Given the description of an element on the screen output the (x, y) to click on. 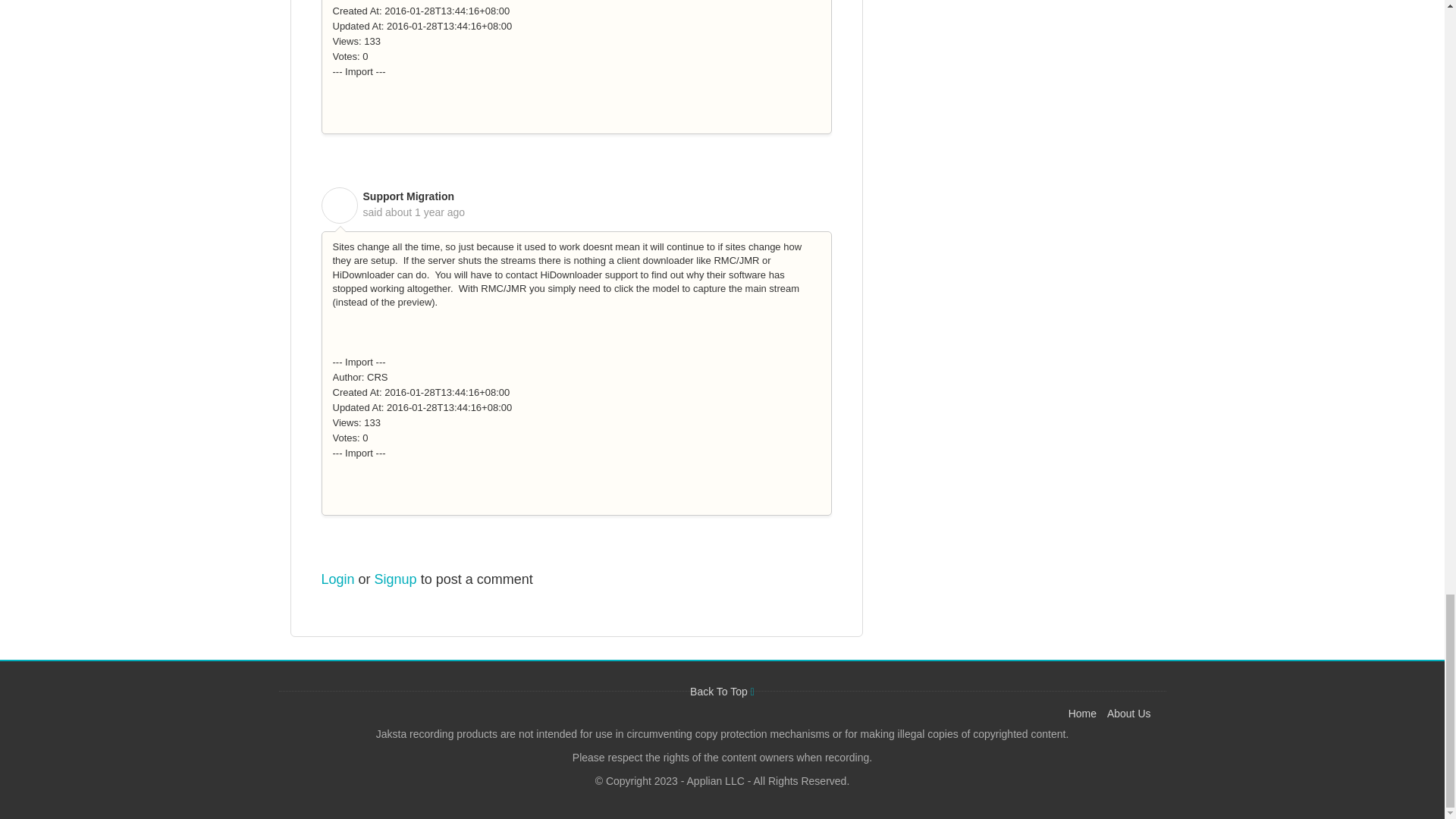
Mon, 8 May, 2023 at  1:19 AM (424, 212)
Back to top (722, 691)
Login (338, 579)
Signup (395, 579)
